Given the description of an element on the screen output the (x, y) to click on. 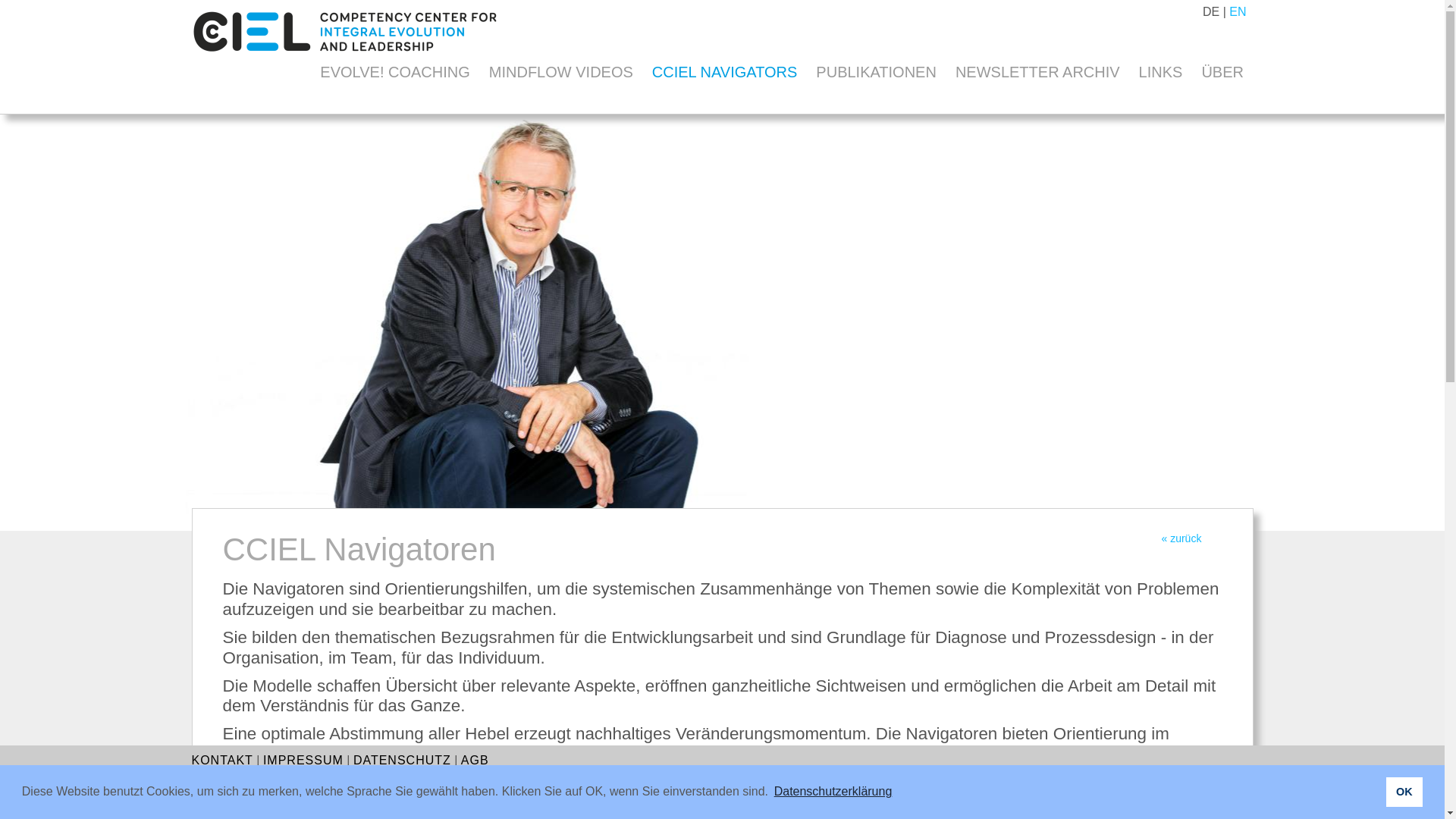
IMPRESSUM Element type: text (303, 759)
Instagram Element type: hover (1214, 803)
Twitter Element type: hover (1184, 795)
LinkedIn Element type: hover (1081, 803)
Facebook Element type: hover (1155, 795)
NEWSLETTER ARCHIV Element type: text (1037, 72)
LINKS Element type: text (1160, 72)
CCIEL NAVIGATORS Element type: text (724, 72)
OK Element type: text (1404, 791)
youtube Element type: hover (1240, 795)
EN Element type: text (1237, 11)
youtube Element type: hover (1240, 803)
DATENSCHUTZ Element type: text (402, 759)
Twitter Element type: hover (1186, 803)
XING Element type: hover (1129, 803)
KONTAKT Element type: text (221, 759)
AGB Element type: text (475, 759)
MINDFLOW VIDEOS Element type: text (560, 72)
PUBLIKATIONEN Element type: text (876, 72)
Facebook Element type: hover (1157, 803)
Instagram Element type: hover (1212, 795)
EVOLVE! COACHING Element type: text (394, 72)
#qryStamm.fdBetrieb# - Startseite Element type: hover (343, 62)
XING Element type: hover (1127, 795)
